Given the description of an element on the screen output the (x, y) to click on. 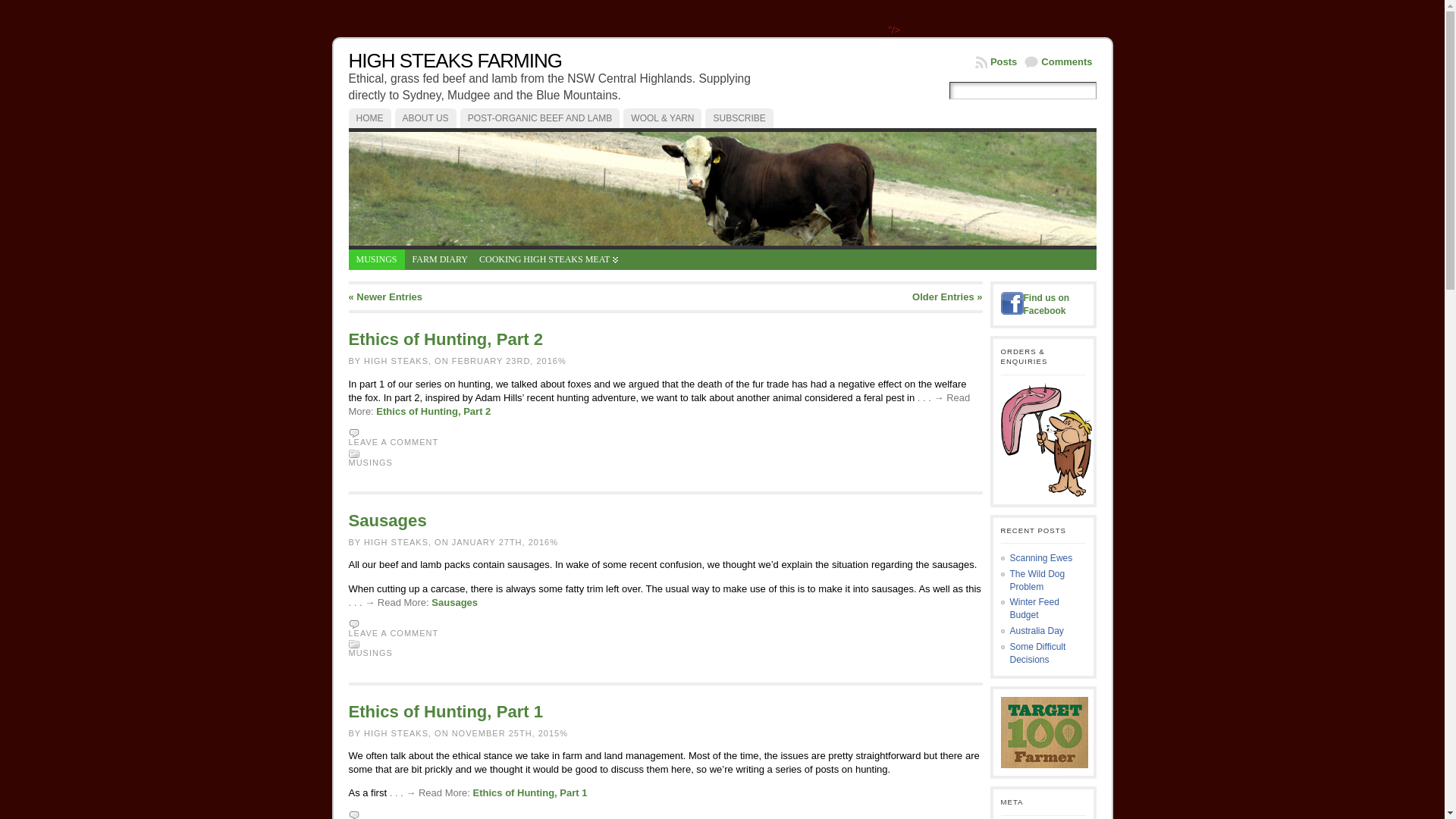
Scanning Ewes Element type: text (1041, 557)
Ethics of Hunting, Part 1 Element type: text (530, 792)
HOME Element type: text (369, 118)
Posts Element type: text (995, 61)
MUSINGS Element type: text (370, 462)
Ethics of Hunting, Part 2 Element type: text (445, 338)
Ethics of Hunting, Part 2 Element type: text (433, 411)
Some Difficult Decisions Element type: text (1038, 653)
ABOUT US Element type: text (424, 118)
LEAVE A COMMENT Element type: text (393, 632)
Australia Day Element type: text (1036, 630)
Sausages Element type: text (454, 602)
HIGH STEAKS FARMING Element type: text (455, 60)
Winter Feed Budget Element type: text (1034, 608)
WOOL & YARN Element type: text (662, 118)
FARM DIARY Element type: text (439, 259)
Read more about sustainable farming at Target 100 Element type: hover (1044, 732)
MUSINGS Element type: text (376, 259)
COOKING HIGH STEAKS MEAT Element type: text (548, 259)
Sausages Element type: text (387, 520)
POST-ORGANIC BEEF AND LAMB Element type: text (540, 118)
Comments Element type: text (1058, 61)
MUSINGS Element type: text (370, 652)
Ethics of Hunting, Part 1 Element type: text (445, 711)
SUBSCRIBE Element type: text (738, 118)
LEAVE A COMMENT Element type: text (393, 441)
Find us on Facebook Element type: text (1046, 304)
The Wild Dog Problem Element type: text (1037, 580)
